Given the description of an element on the screen output the (x, y) to click on. 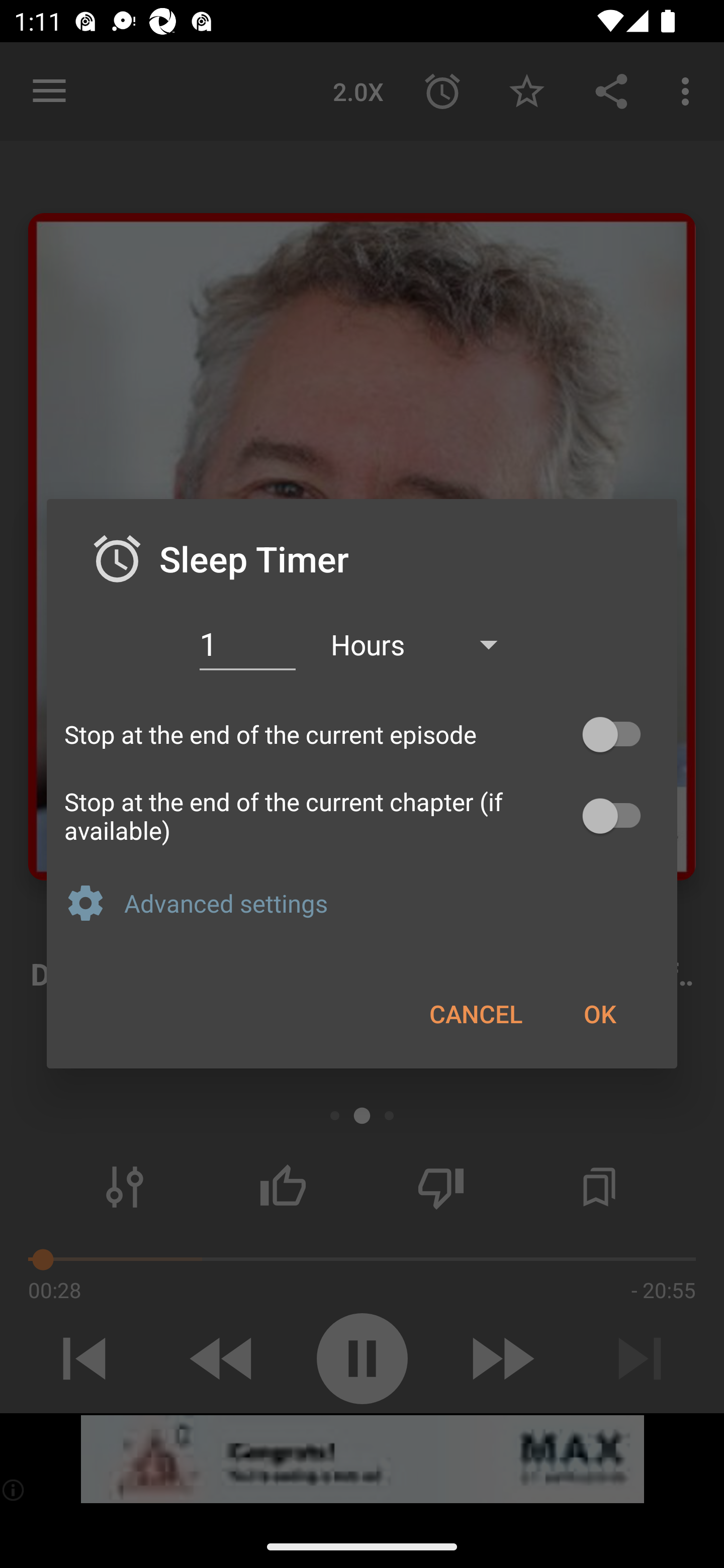
1 (247, 644)
Hours (423, 643)
Stop at the end of the current episode (361, 734)
Advanced settings (391, 902)
CANCEL (475, 1013)
OK (599, 1013)
